Given the description of an element on the screen output the (x, y) to click on. 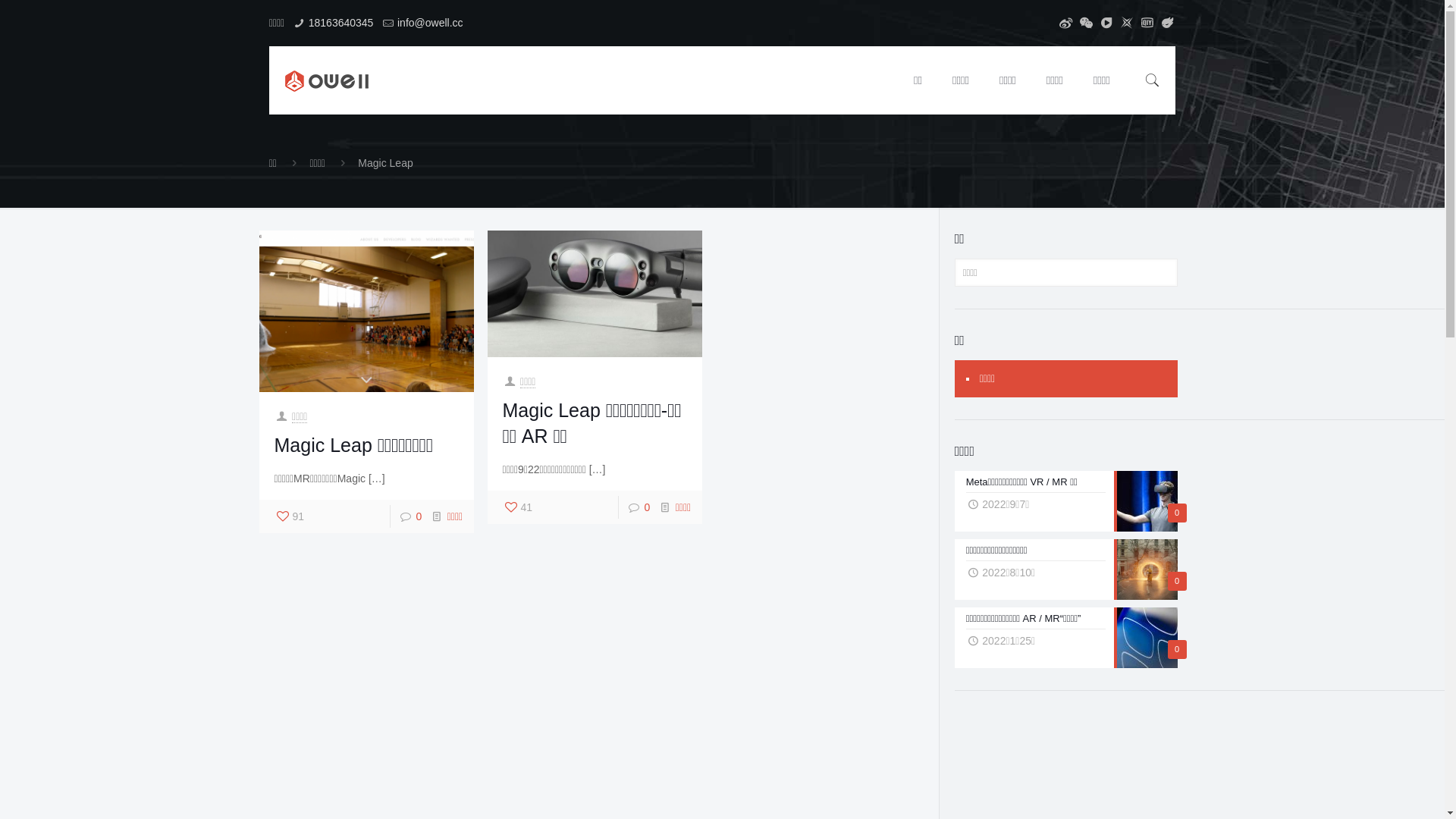
91 Element type: text (289, 516)
info@owell.cc Element type: text (430, 22)
0 Element type: text (646, 507)
0 Element type: text (418, 516)
41 Element type: text (517, 506)
18163640345 Element type: text (340, 22)
